Given the description of an element on the screen output the (x, y) to click on. 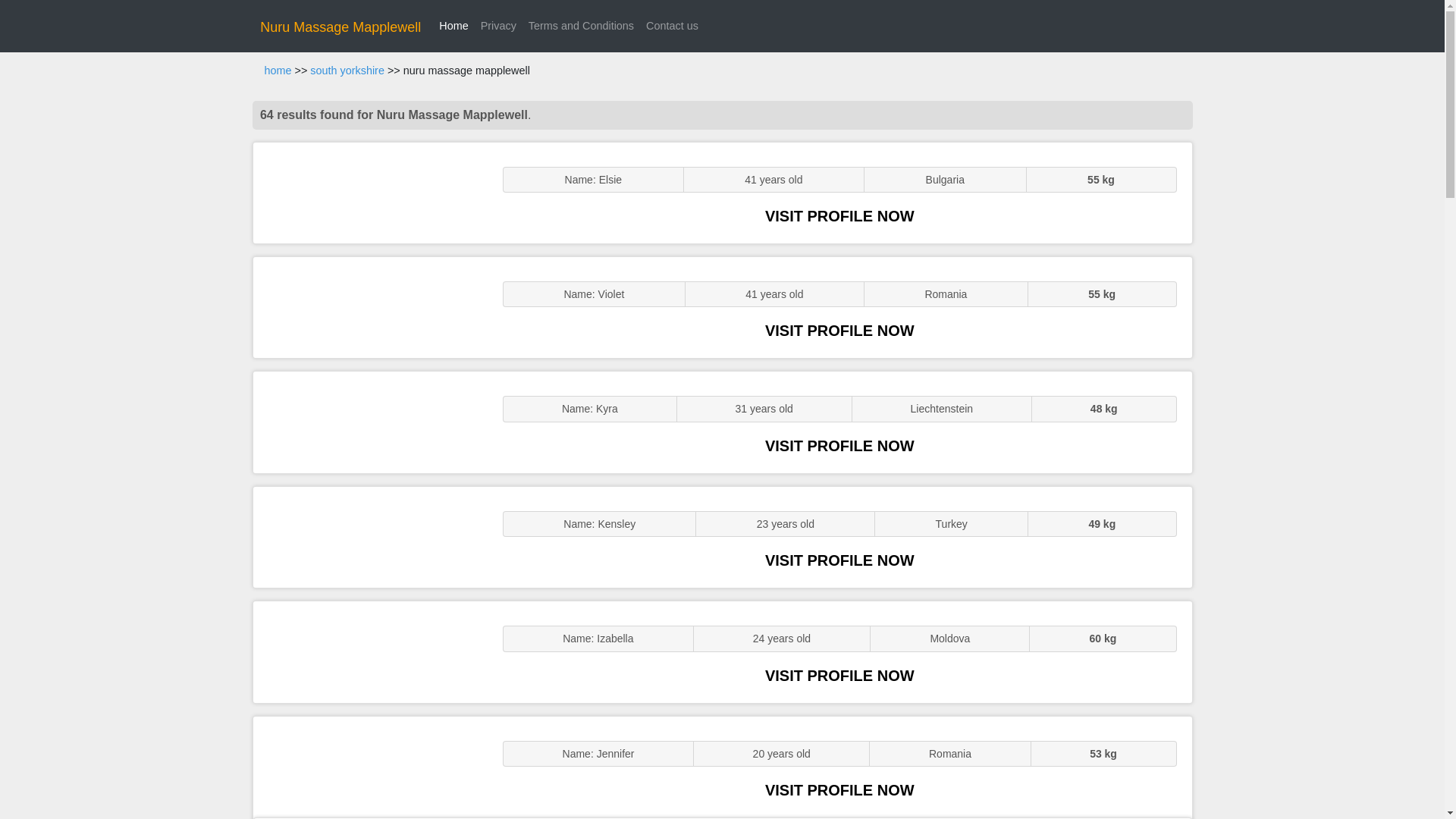
VISIT PROFILE NOW (839, 790)
 ENGLISH STUNNER (370, 192)
Sexy (370, 421)
VISIT PROFILE NOW (839, 216)
Sluts (370, 537)
home (277, 70)
VISIT PROFILE NOW (839, 445)
Privacy (498, 25)
VISIT PROFILE NOW (839, 330)
Terms and Conditions (581, 25)
Massage (370, 766)
VISIT PROFILE NOW (839, 560)
south yorkshire (347, 70)
VISIT PROFILE NOW (839, 675)
Contact us (672, 25)
